Given the description of an element on the screen output the (x, y) to click on. 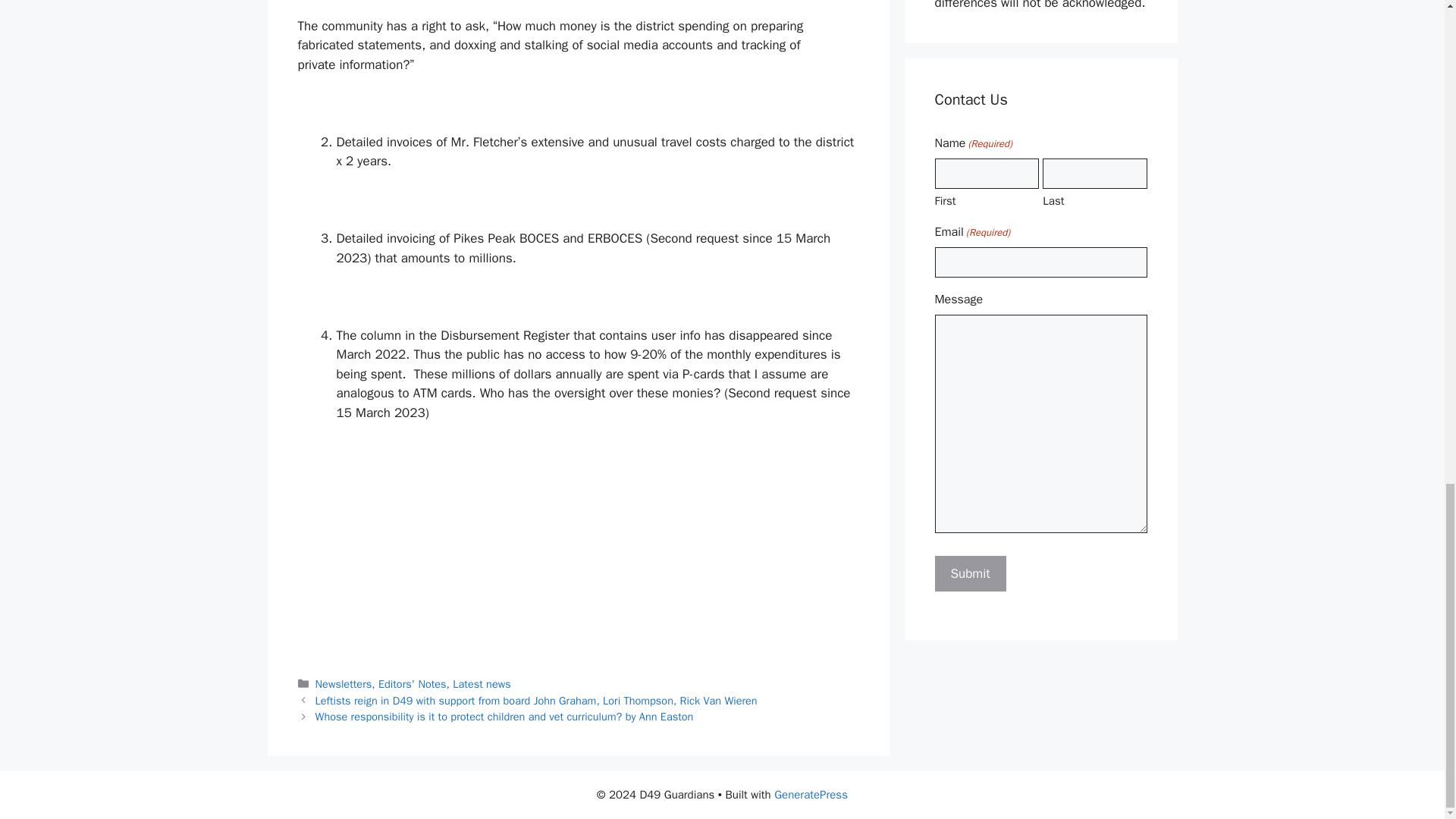
Latest news (481, 684)
Editors' Notes (412, 684)
Submit (970, 574)
Newsletters (343, 684)
